Given the description of an element on the screen output the (x, y) to click on. 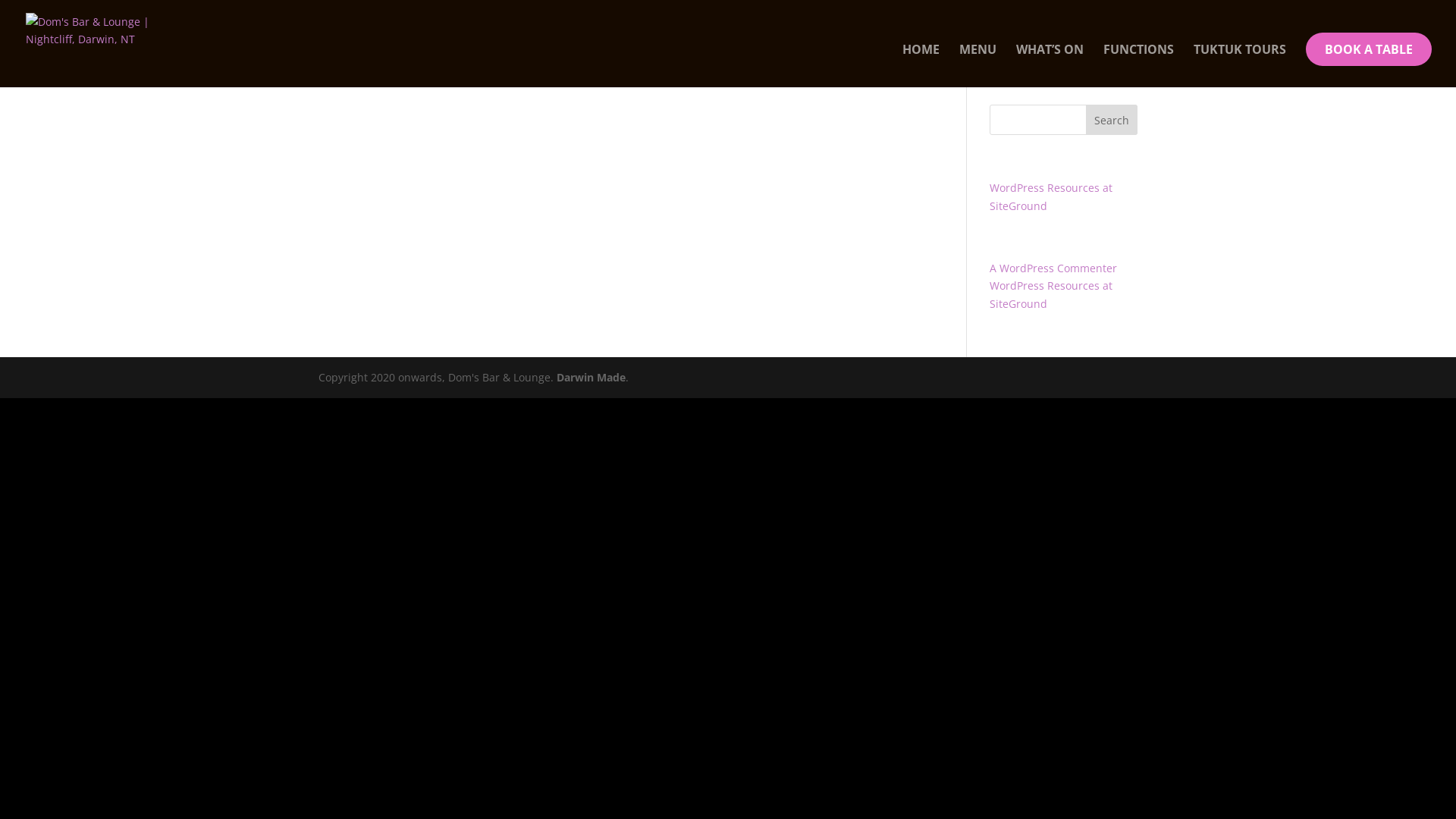
Search Element type: text (1111, 119)
TUKTUK TOURS Element type: text (1239, 65)
WordPress Resources at SiteGround Element type: text (1050, 294)
FUNCTIONS Element type: text (1138, 65)
MENU Element type: text (977, 65)
Darwin Made Element type: text (590, 377)
A WordPress Commenter Element type: text (1053, 267)
WordPress Resources at SiteGround Element type: text (1050, 196)
HOME Element type: text (920, 65)
BOOK A TABLE Element type: text (1368, 48)
